Given the description of an element on the screen output the (x, y) to click on. 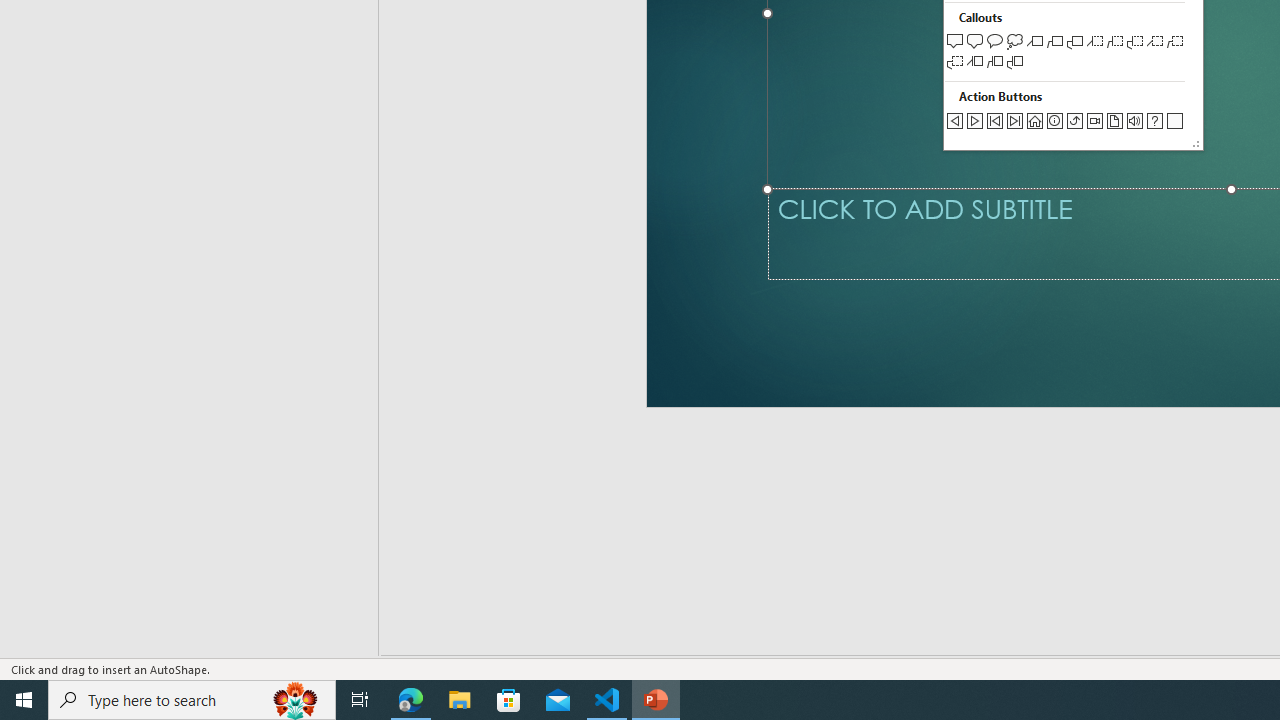
Microsoft Edge - 1 running window (411, 699)
